Given the description of an element on the screen output the (x, y) to click on. 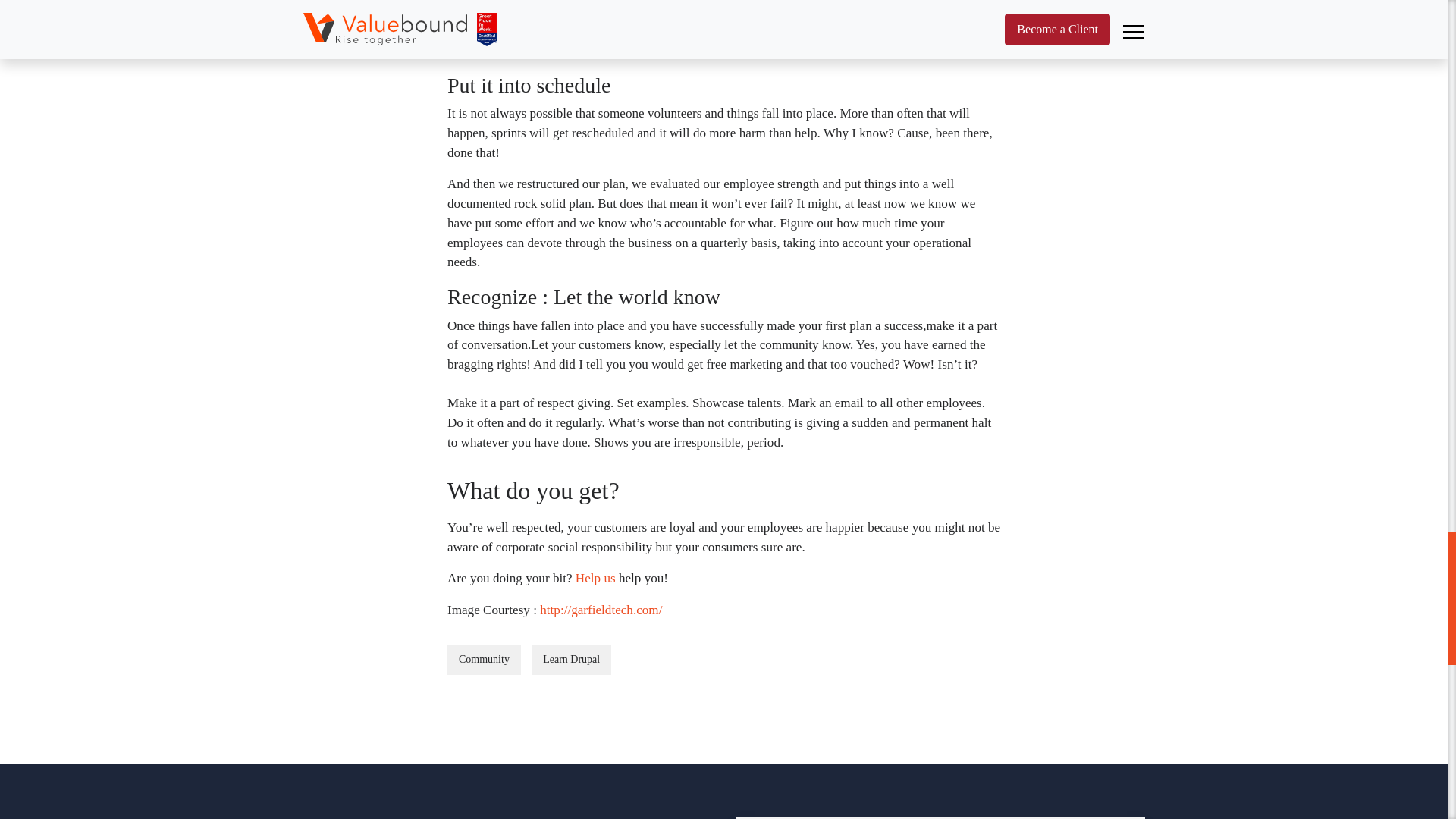
Help us (595, 577)
Community (483, 659)
Learn Drupal (571, 659)
Share to X (503, 710)
Share to Facebook (465, 710)
Share to Linkedin (541, 710)
